Given the description of an element on the screen output the (x, y) to click on. 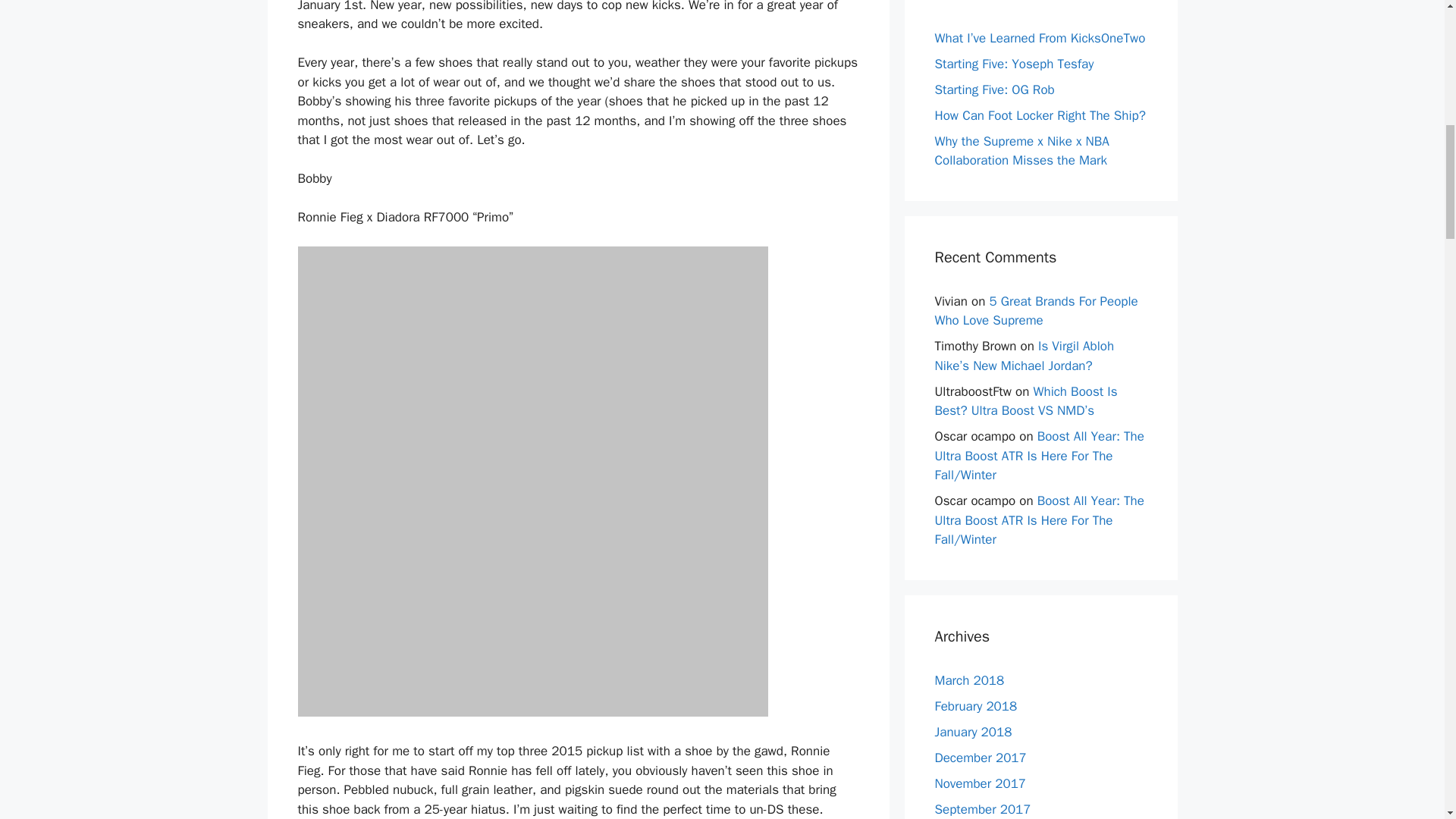
Starting Five: OG Rob (994, 89)
5 Great Brands For People Who Love Supreme (1035, 310)
March 2018 (969, 679)
How Can Foot Locker Right The Ship? (1039, 115)
Starting Five: Yoseph Tesfay (1013, 64)
Why the Supreme x Nike x NBA Collaboration Misses the Mark (1021, 150)
